Given the description of an element on the screen output the (x, y) to click on. 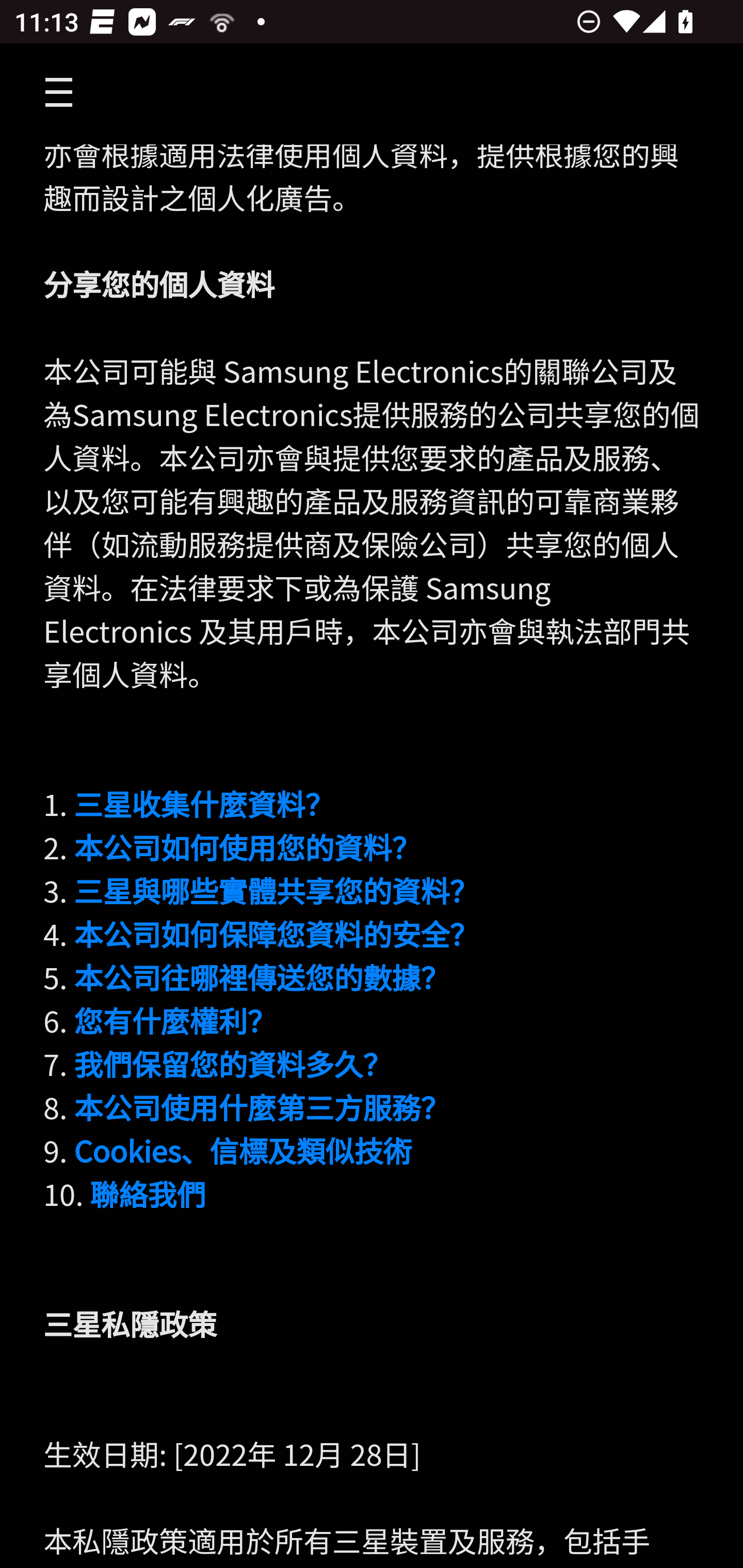
三星收集什麼資料？ (203, 805)
本公司如何使用您的資料？ (247, 848)
三星與哪些實體共享您的資料？ (276, 892)
本公司如何保障您資料的安全？ (276, 935)
本公司往哪裡傳送您的數據？ (261, 978)
您有什麼權利？ (174, 1021)
我們保留您的資料多久？ (232, 1064)
本公司使用什麼第三方服務？ (261, 1108)
Cookies、信標及類似技術 (242, 1151)
聯絡我們 (147, 1194)
